Given the description of an element on the screen output the (x, y) to click on. 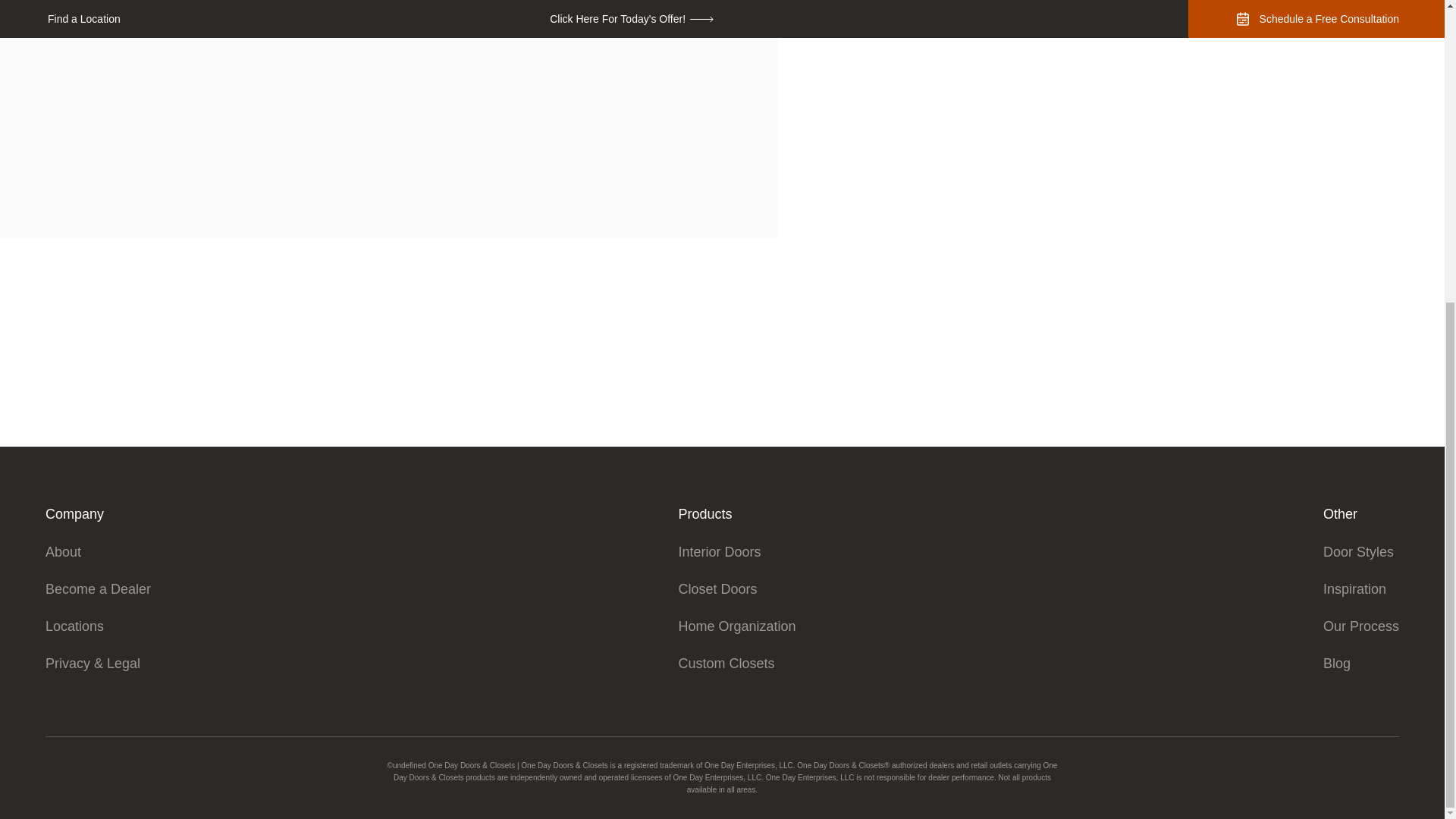
Locations (98, 626)
Blog (1361, 663)
Become a Dealer (98, 589)
Home Organization (736, 626)
Inspiration (1361, 589)
About (98, 552)
Custom Closets (736, 663)
Our Process (1361, 626)
Closet Doors (736, 589)
Door Styles (1361, 552)
